Given the description of an element on the screen output the (x, y) to click on. 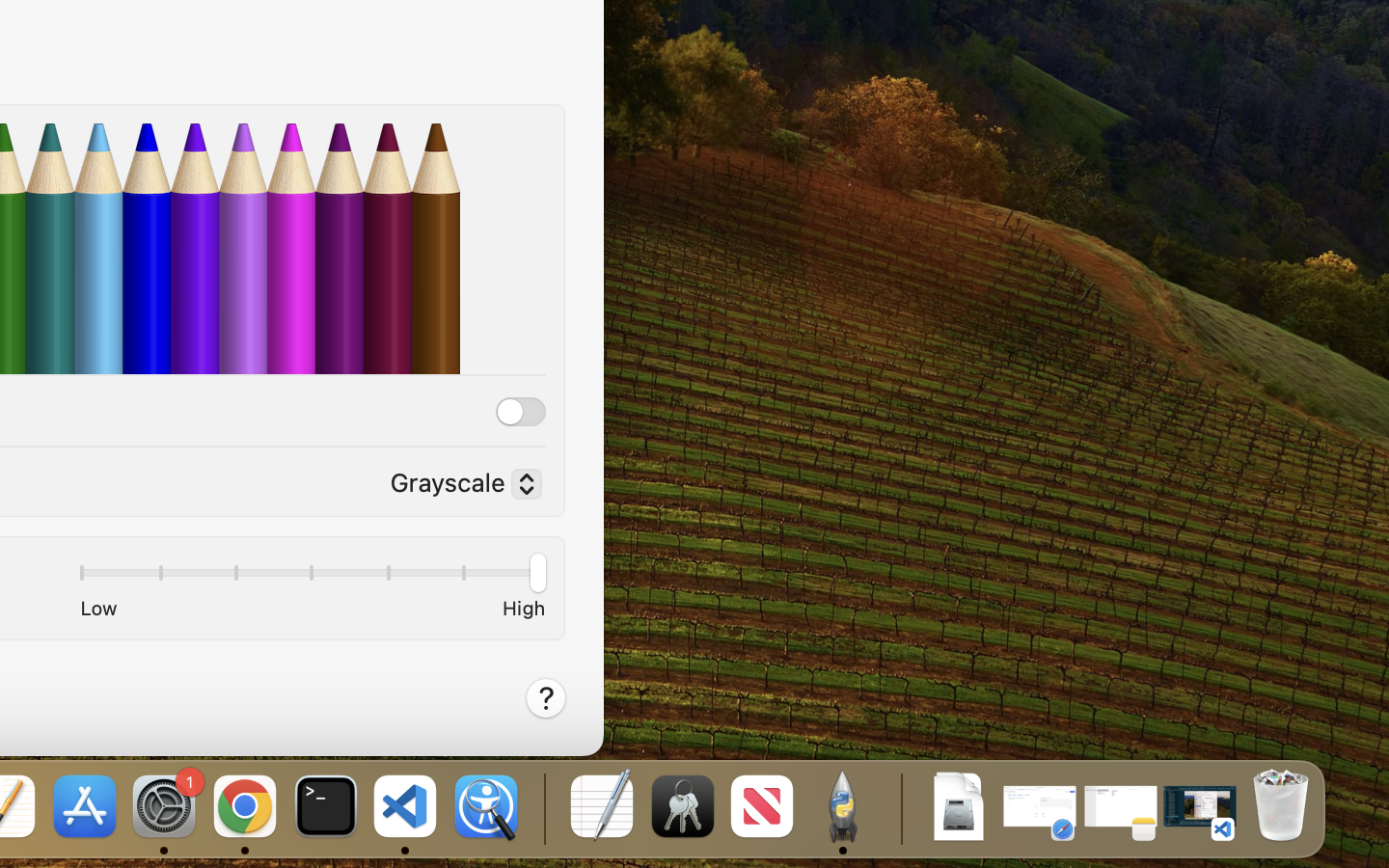
1.0 Element type: AXSlider (311, 576)
0.4285714328289032 Element type: AXDockItem (541, 807)
Grayscale Element type: AXPopUpButton (457, 486)
